Given the description of an element on the screen output the (x, y) to click on. 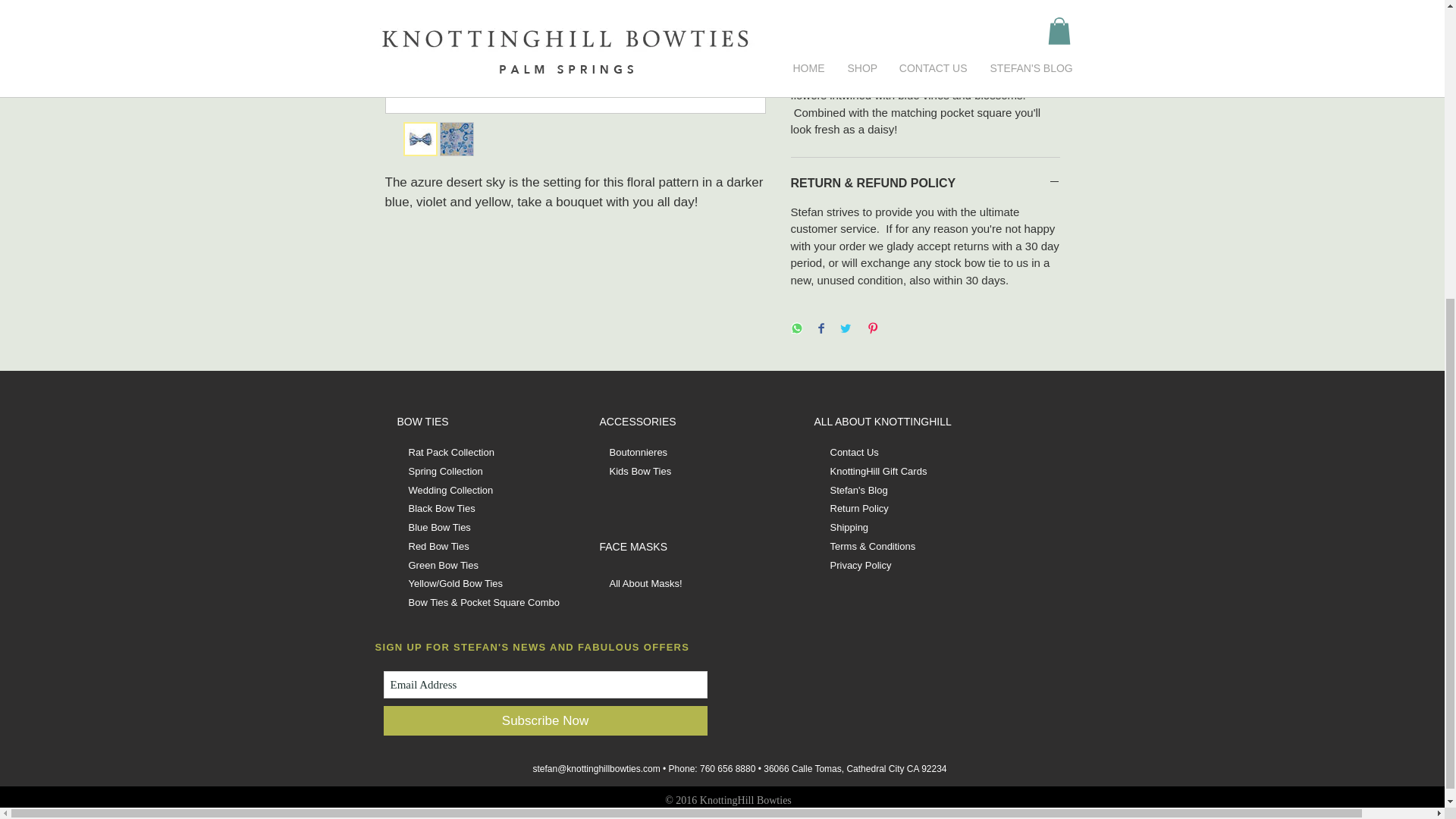
Spring Collection (444, 471)
Red Bow Ties (437, 546)
Kids Bow Ties (640, 471)
Rat Pack Collection (450, 451)
Black Bow Ties (440, 508)
Green Bow Ties (443, 564)
Wedding Collection (450, 490)
Blue Bow Ties (438, 527)
PRODUCT INFO (924, 32)
Boutonnieres (639, 451)
